Given the description of an element on the screen output the (x, y) to click on. 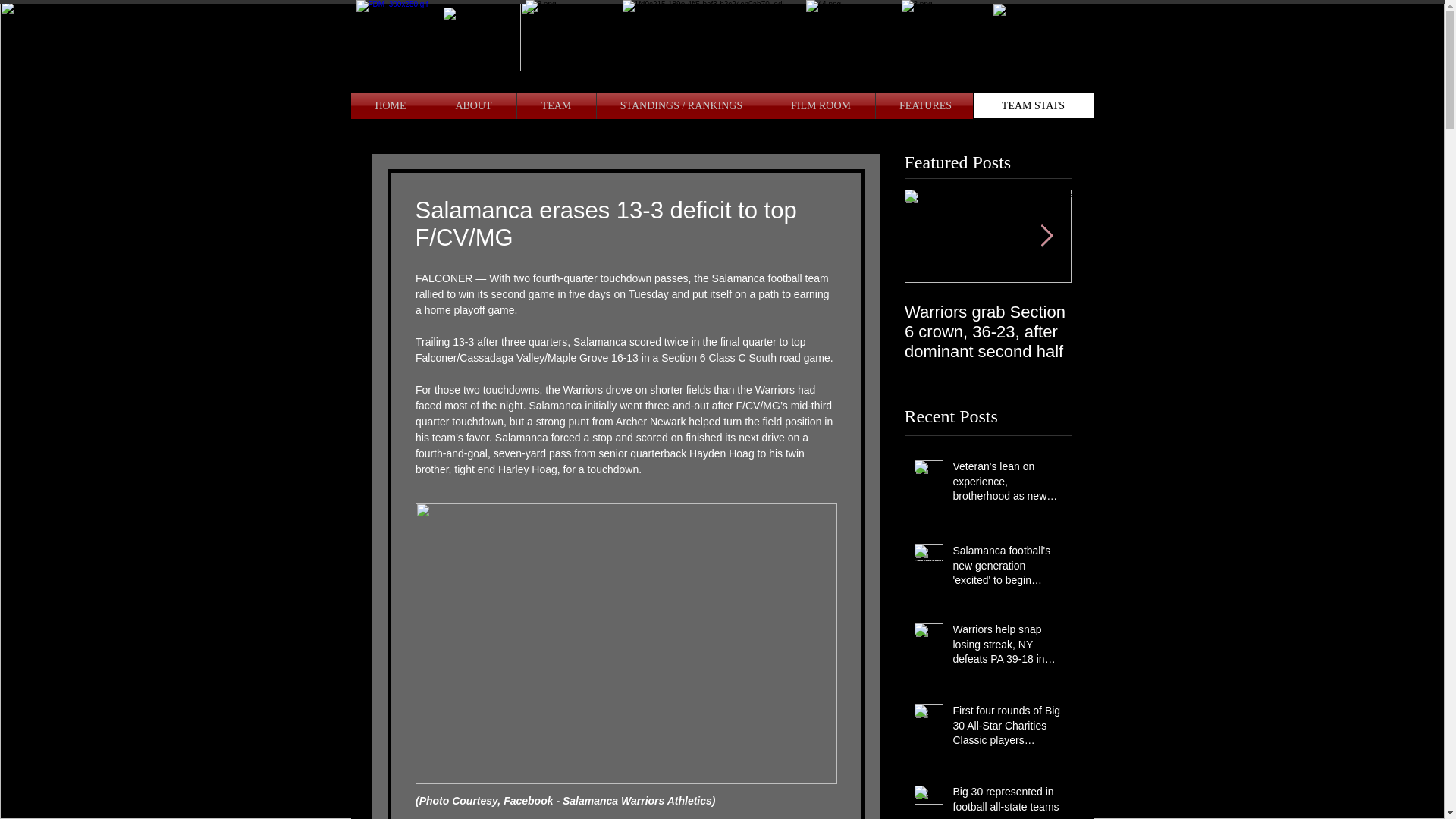
FILM ROOM (821, 105)
ABOUT (472, 105)
TEAM STATS (1032, 105)
TEAM (555, 105)
FEATURES (925, 105)
HOME (389, 105)
TEAM STORE (1033, 105)
Warrior Family Mourns Loss (1153, 322)
